Given the description of an element on the screen output the (x, y) to click on. 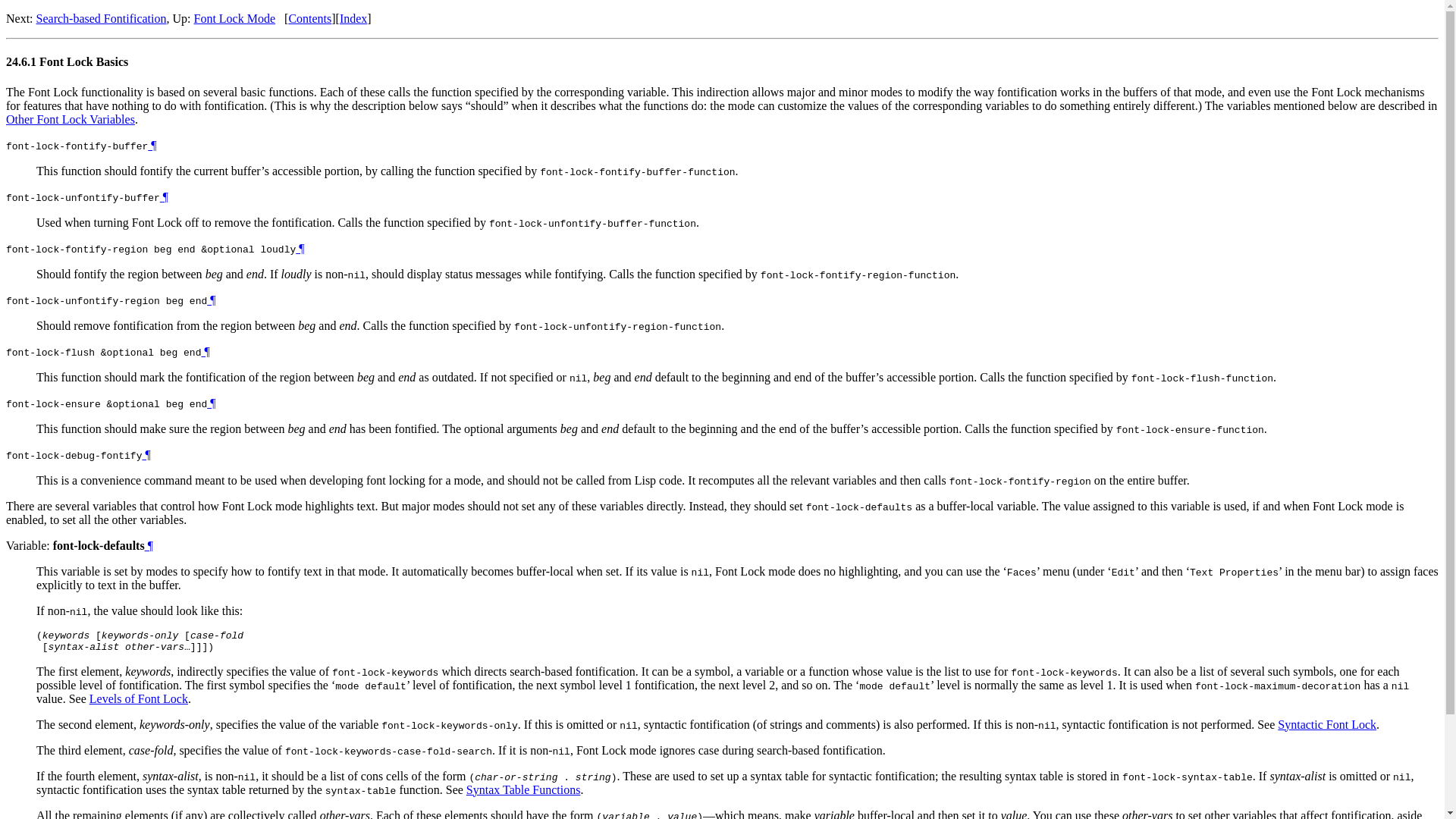
Contents (309, 18)
Index (352, 18)
Index (352, 18)
Syntactic Font Lock (1326, 724)
Table of contents (309, 18)
Levels of Font Lock (137, 698)
Other Font Lock Variables (70, 119)
Syntax Table Functions (522, 789)
Search-based Fontification (101, 18)
Font Lock Mode (234, 18)
